Given the description of an element on the screen output the (x, y) to click on. 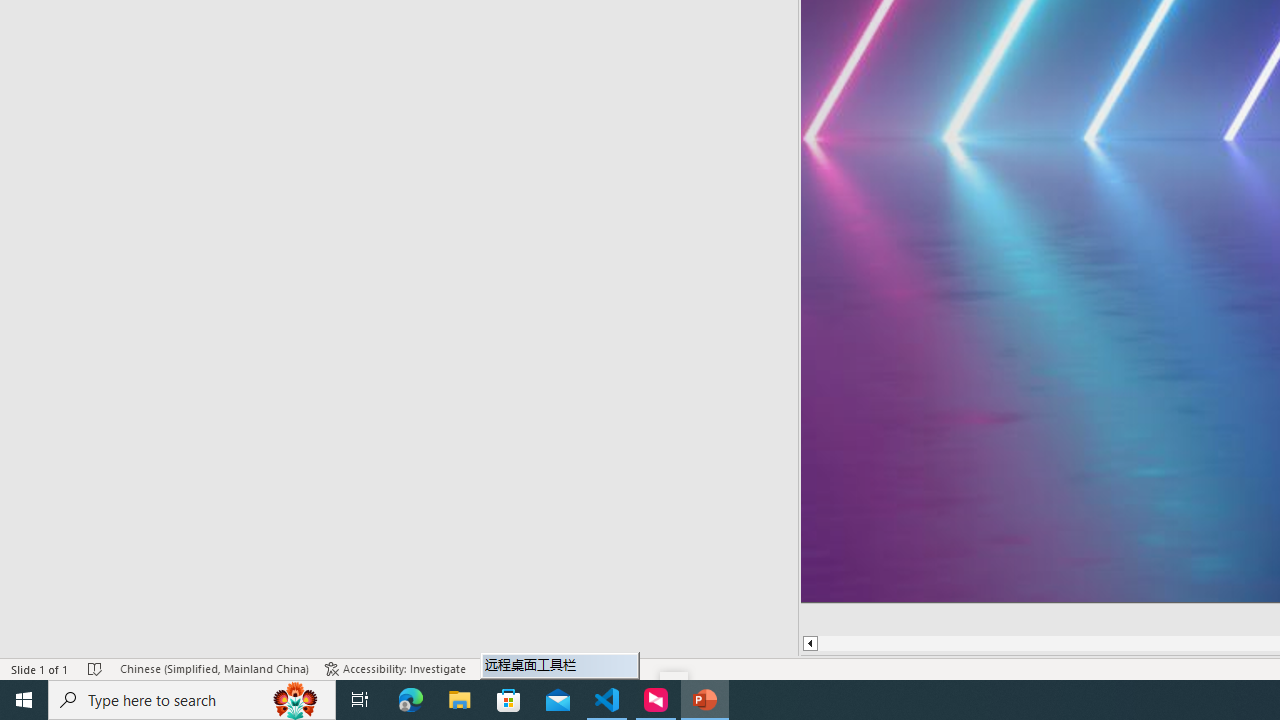
Accessibility Checker Accessibility: Investigate (395, 668)
Spell Check No Errors (95, 668)
